Given the description of an element on the screen output the (x, y) to click on. 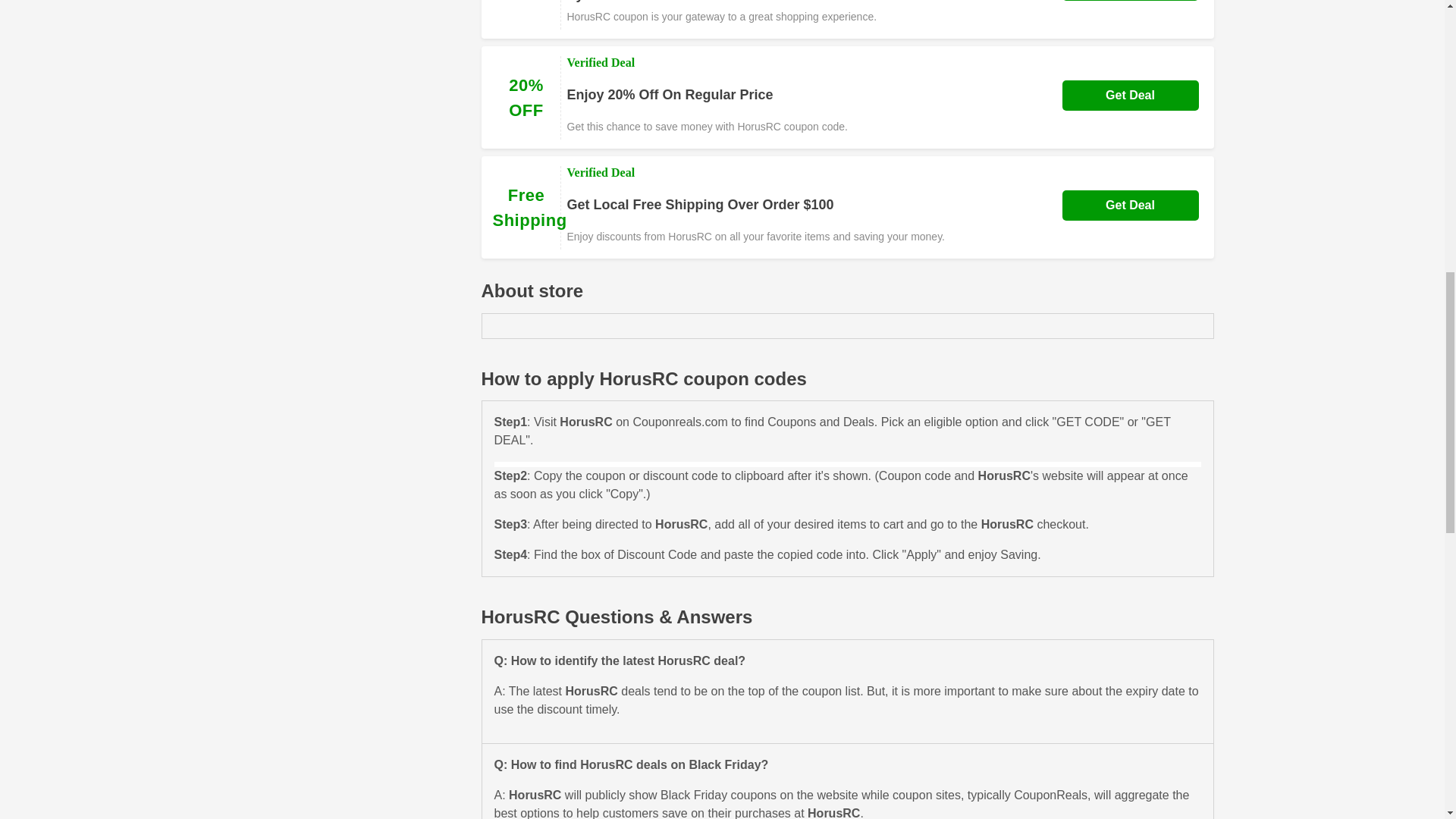
Get Deal (1129, 95)
Get Deal (1129, 205)
